Given the description of an element on the screen output the (x, y) to click on. 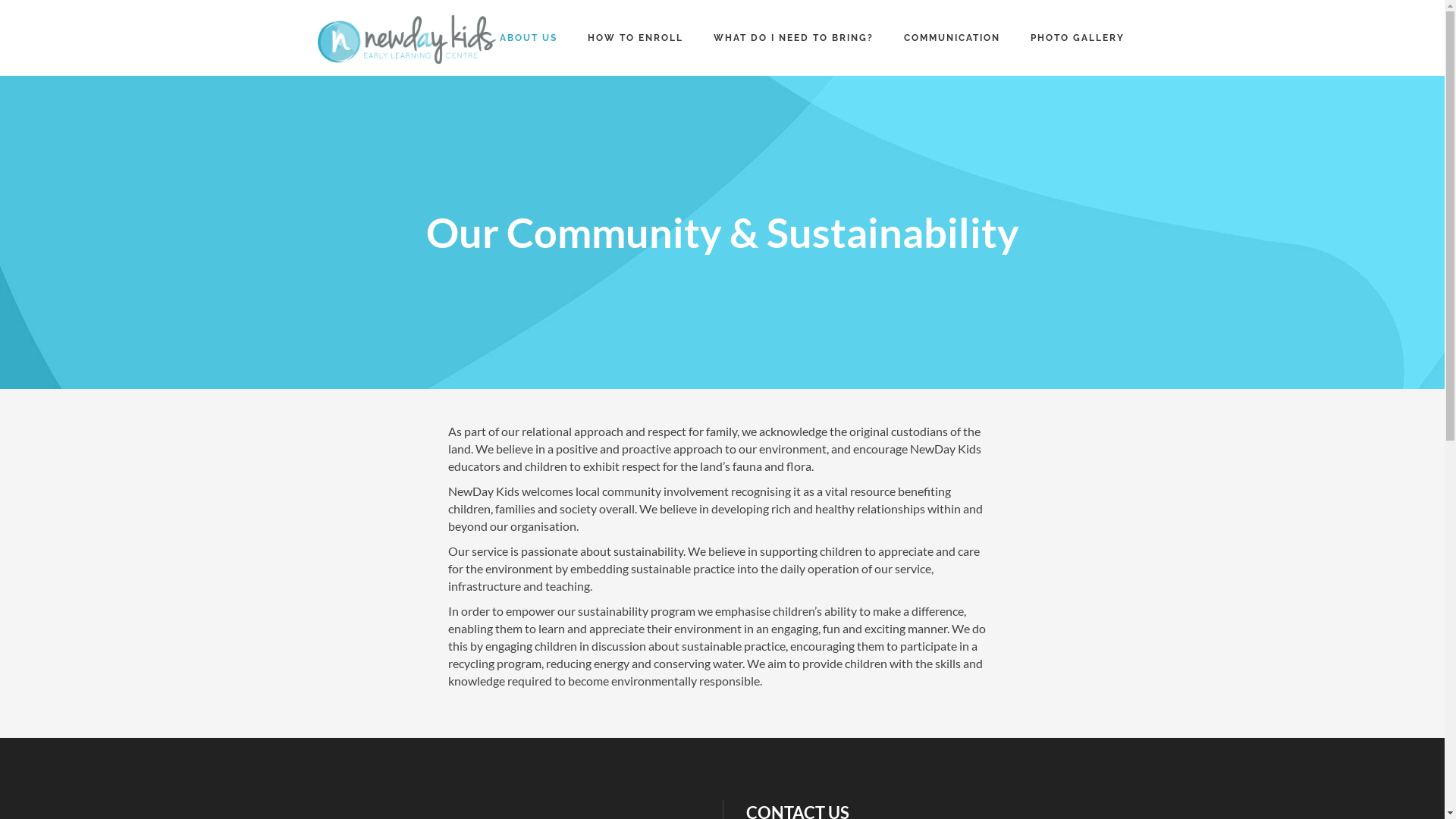
WHAT DO I NEED TO BRING? Element type: text (792, 37)
ABOUT US Element type: text (527, 37)
HOW TO ENROLL Element type: text (634, 37)
COMMUNICATION Element type: text (951, 37)
PHOTO GALLERY Element type: text (1076, 37)
